Given the description of an element on the screen output the (x, y) to click on. 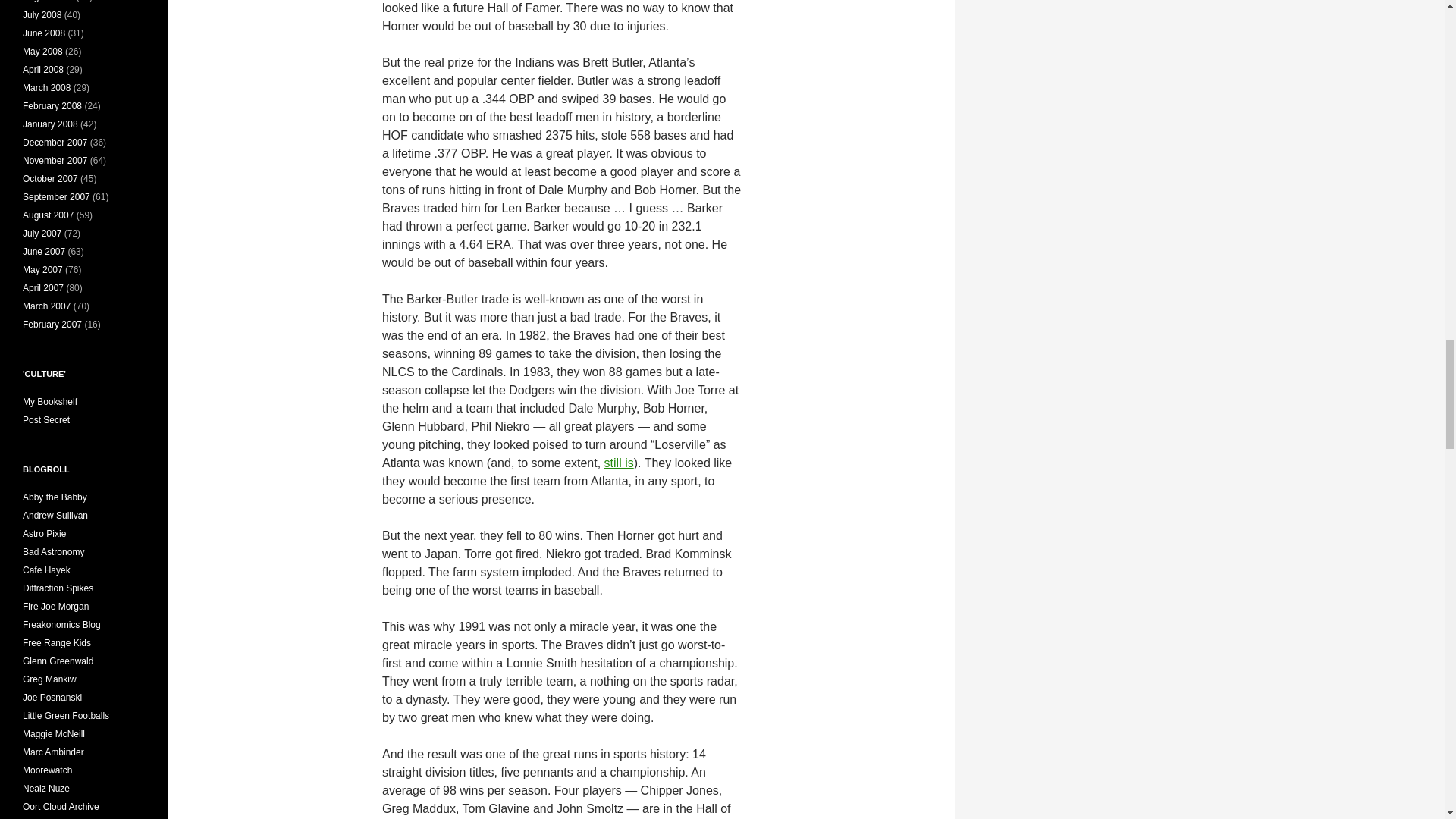
Post Secret (46, 419)
Amanda (44, 533)
still is (618, 462)
Bad Astronomy (53, 552)
My Daughter (55, 497)
Sullivan (55, 515)
